Given the description of an element on the screen output the (x, y) to click on. 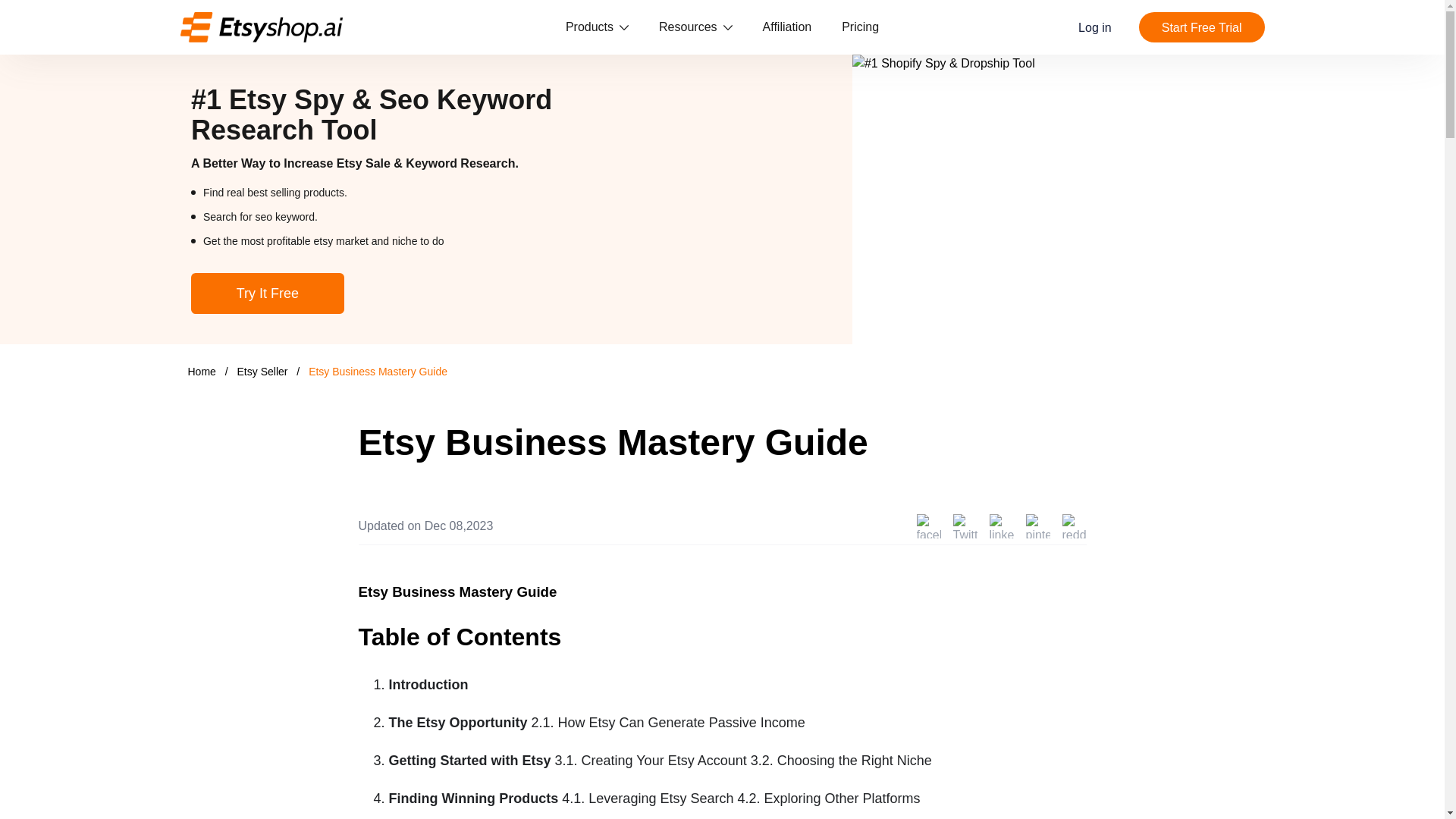
Affiliation (787, 26)
facebook (927, 526)
Try It Free (266, 292)
pinterest (1037, 526)
reddit (1073, 526)
Home (201, 371)
Twitter (964, 526)
Start Free Trial (1201, 27)
Log in (1094, 27)
Etsy Seller (264, 371)
linkedin (1000, 526)
Pricing (860, 26)
